Given the description of an element on the screen output the (x, y) to click on. 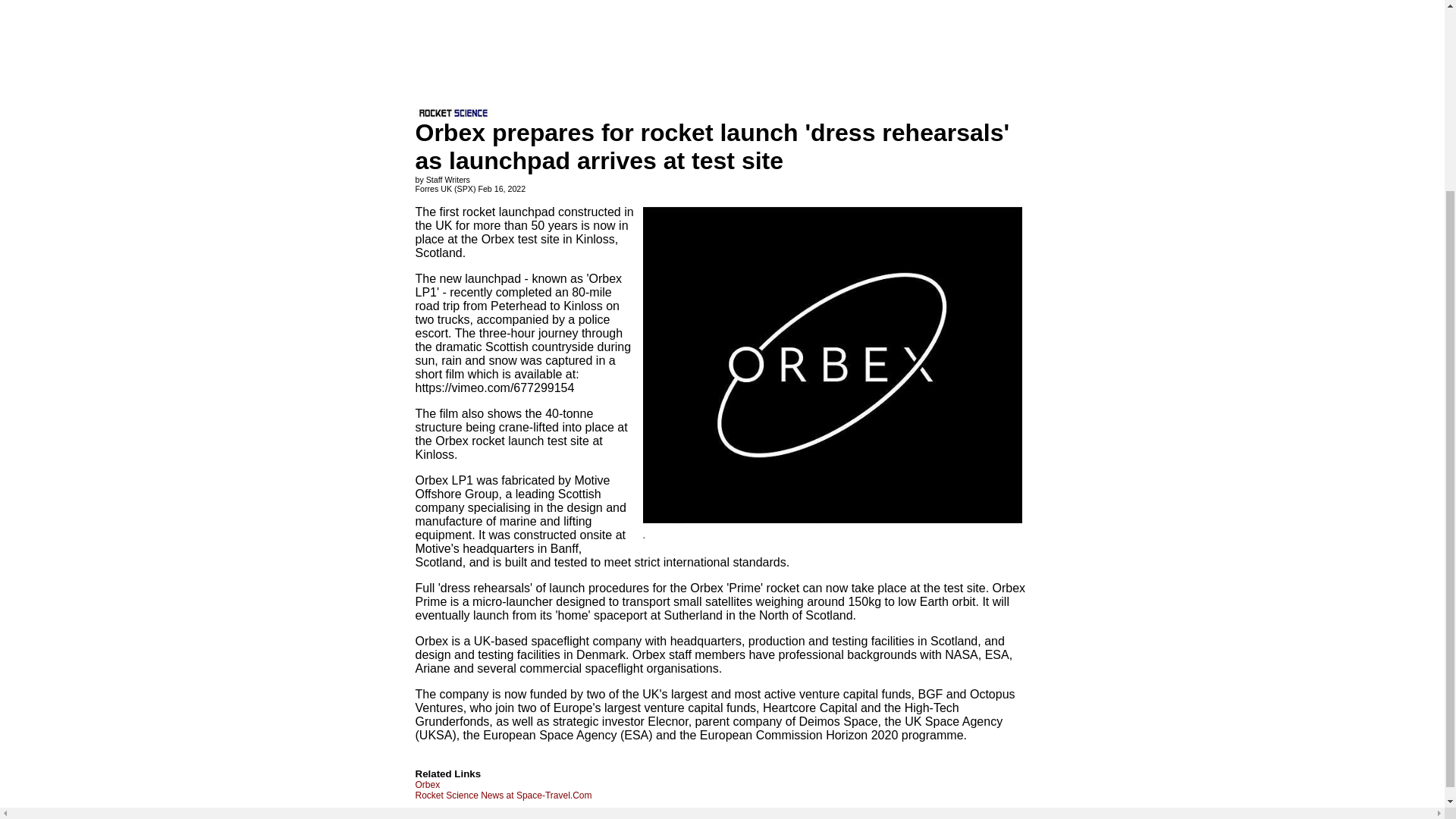
Rocket Science News at Space-Travel.Com (503, 795)
Orbex (427, 784)
